Given the description of an element on the screen output the (x, y) to click on. 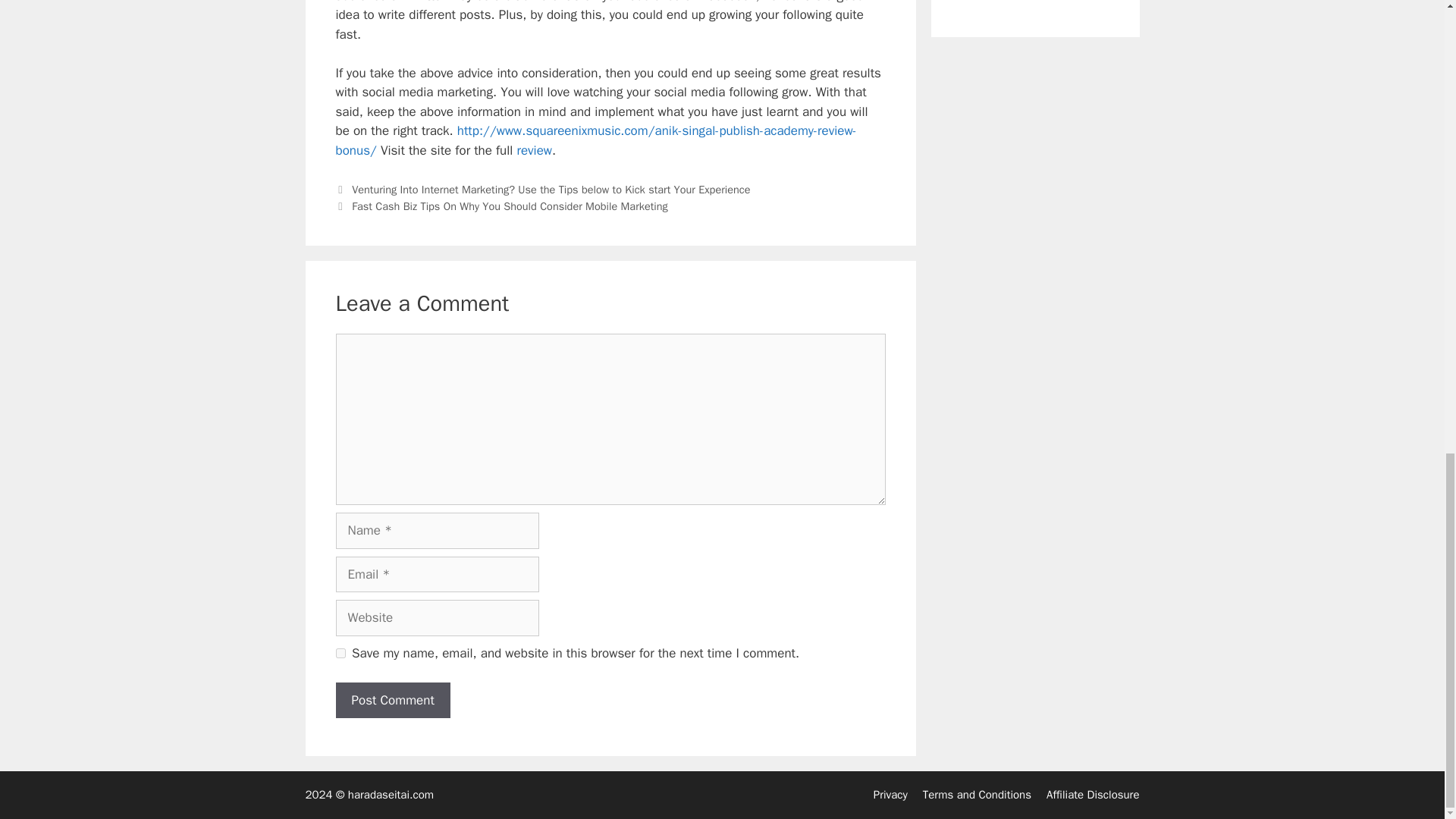
Post Comment (391, 700)
Affiliate Disclosure (1093, 794)
Privacy (890, 794)
yes (339, 653)
Terms and Conditions (976, 794)
Post Comment (391, 700)
review (534, 150)
